Given the description of an element on the screen output the (x, y) to click on. 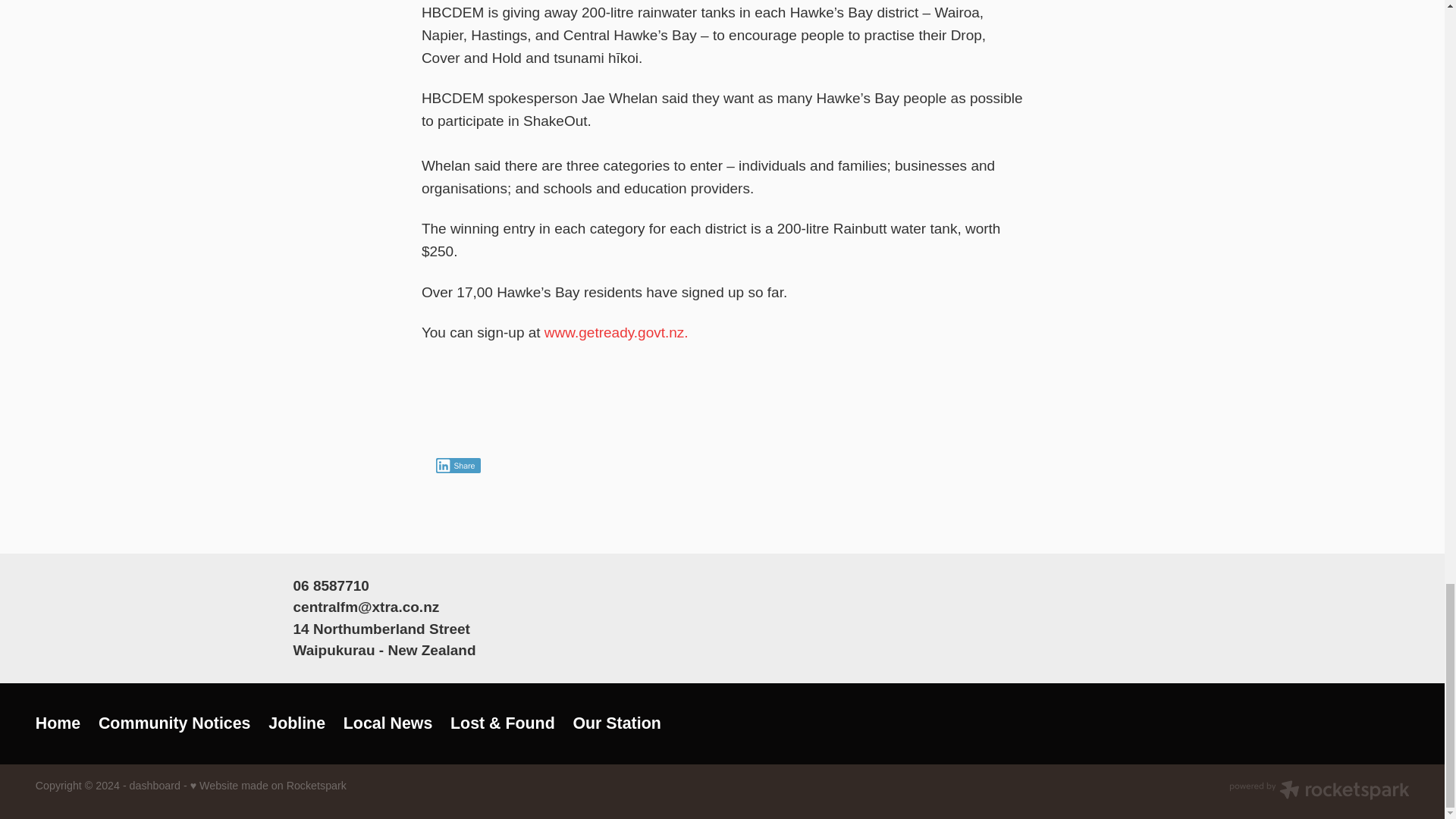
Rocketspark website builder (1318, 791)
